Given the description of an element on the screen output the (x, y) to click on. 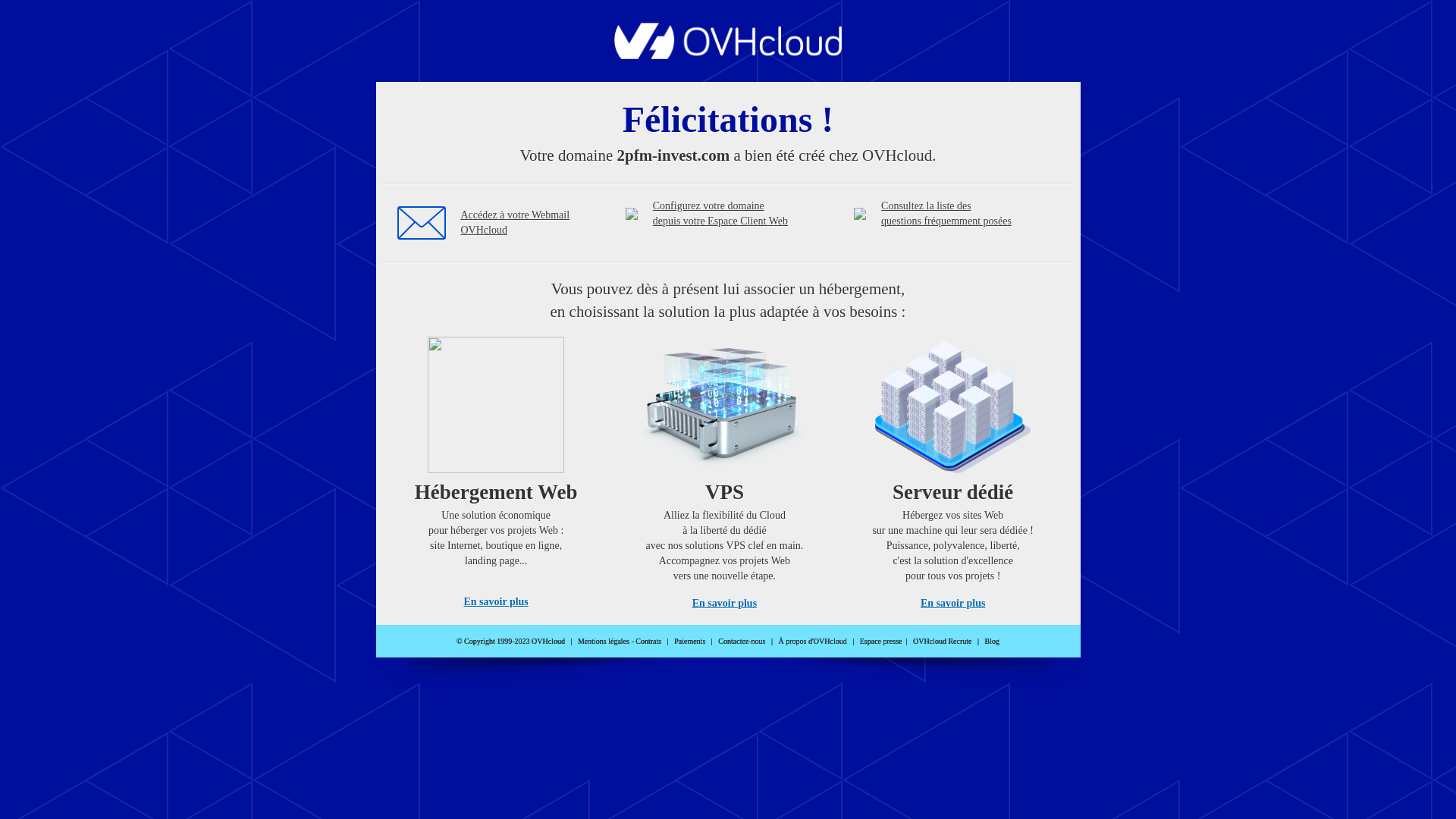
Espace presse Element type: text (880, 641)
En savoir plus Element type: text (495, 601)
Contactez-nous Element type: text (741, 641)
En savoir plus Element type: text (952, 602)
OVHcloud Element type: hover (727, 54)
OVHcloud Recrute Element type: text (942, 641)
Blog Element type: text (992, 641)
En savoir plus Element type: text (724, 602)
Paiements Element type: text (689, 641)
VPS Element type: hover (724, 469)
Configurez votre domaine
depuis votre Espace Client Web Element type: text (719, 213)
